Given the description of an element on the screen output the (x, y) to click on. 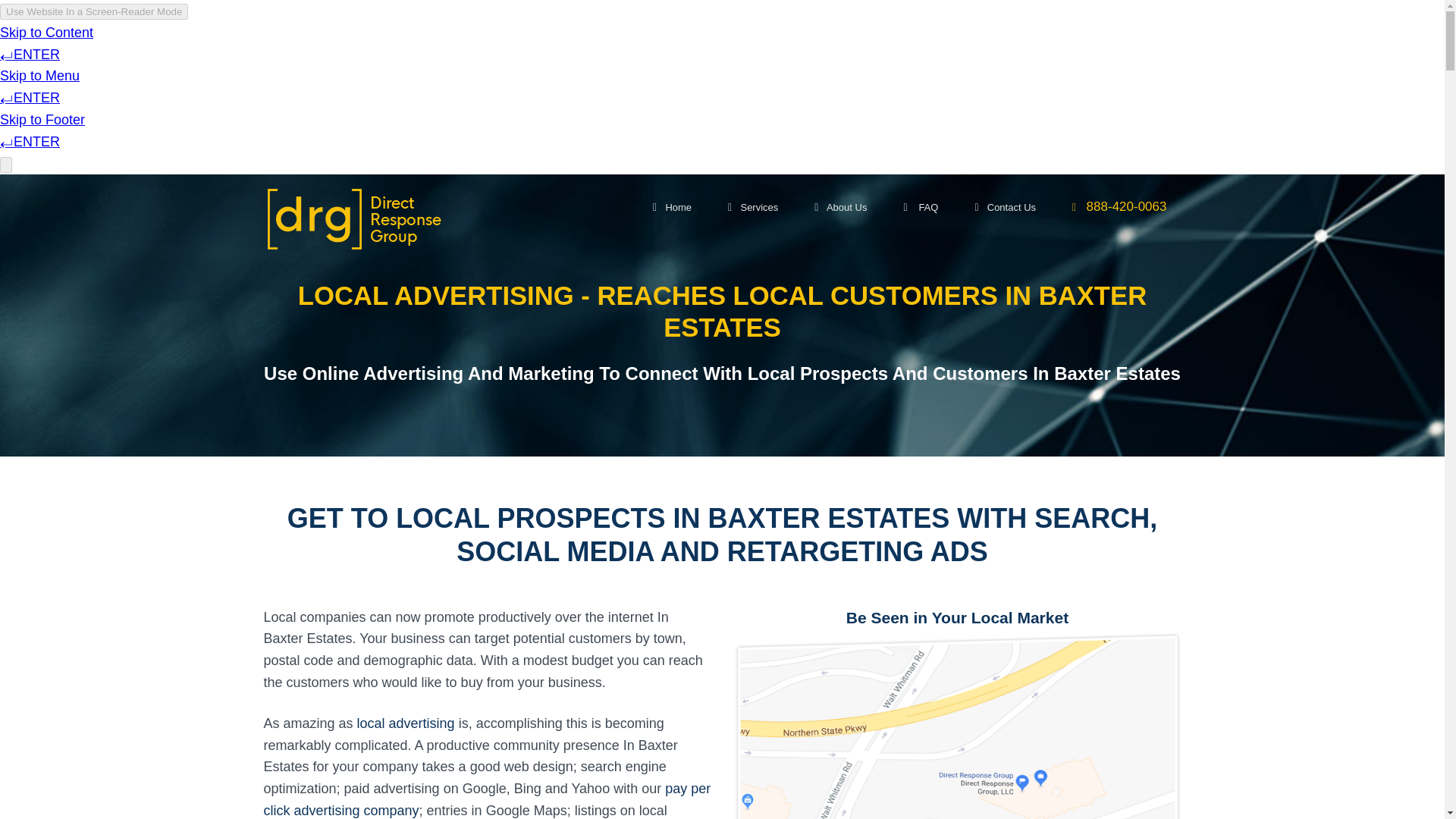
Direct Response Group Logo (353, 218)
  Home (671, 207)
  About Us (840, 207)
  Contact Us (1004, 207)
  Services (753, 207)
pay per click advertising company (487, 799)
   FAQ (920, 207)
Find more buyers In Baxter Estates (956, 725)
local advertising (405, 723)
  888-420-0063 (1118, 207)
